Given the description of an element on the screen output the (x, y) to click on. 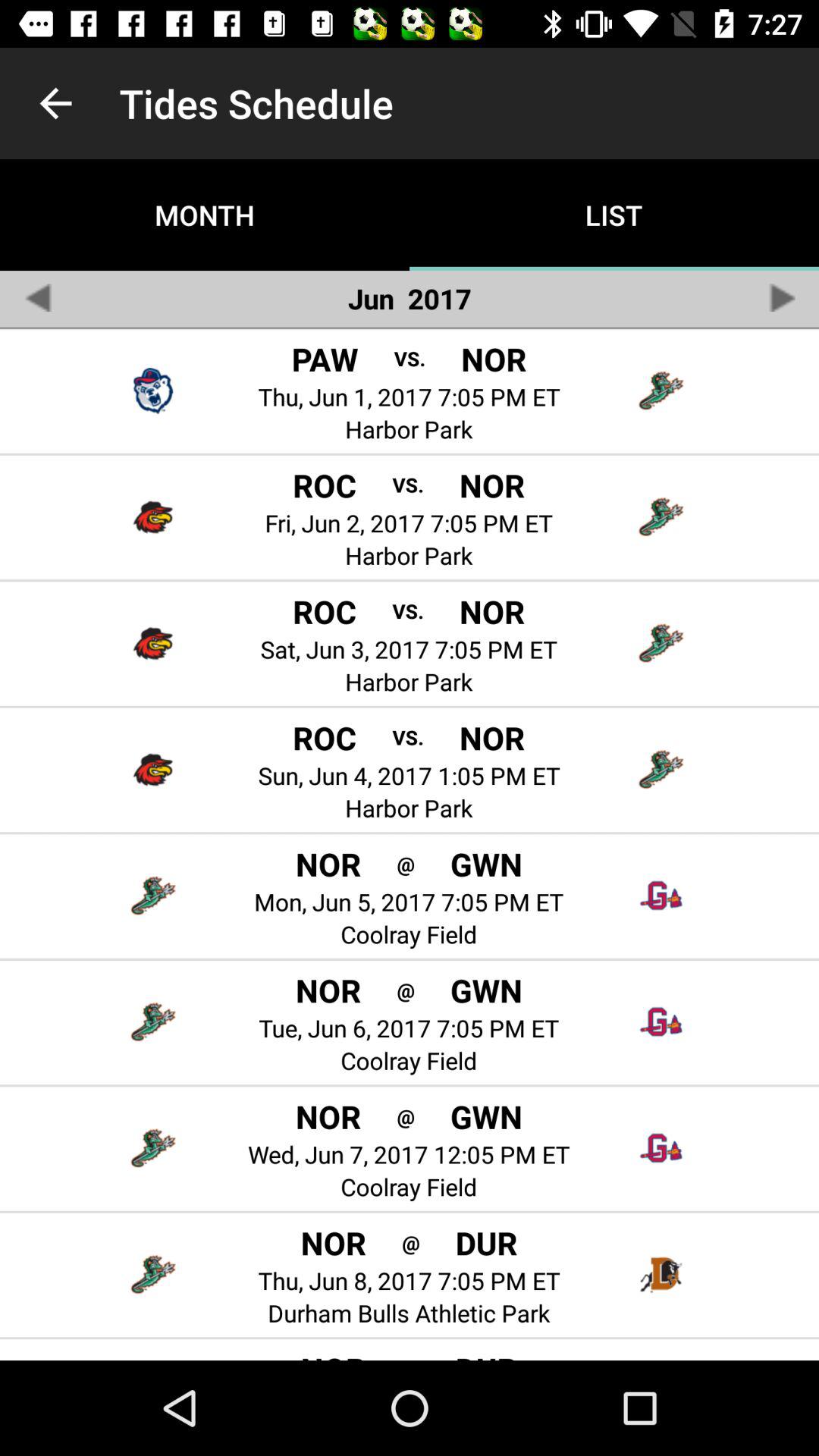
open the @ icon (405, 1115)
